Given the description of an element on the screen output the (x, y) to click on. 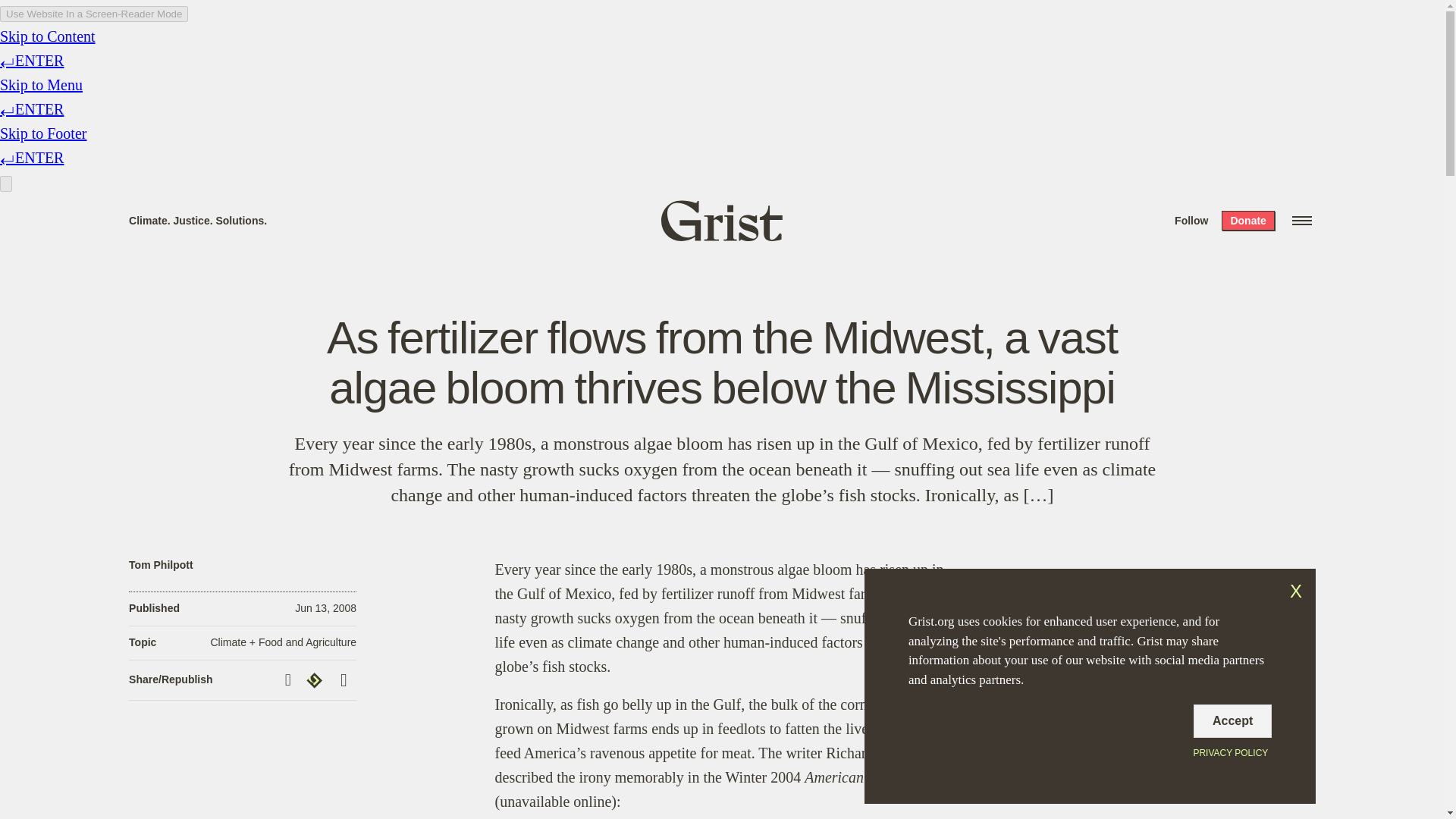
Copy article link (289, 679)
Accept (1232, 720)
Donate (1247, 220)
Search (227, 18)
Grist home (722, 219)
Republish the article (316, 680)
Follow (1191, 220)
